Given the description of an element on the screen output the (x, y) to click on. 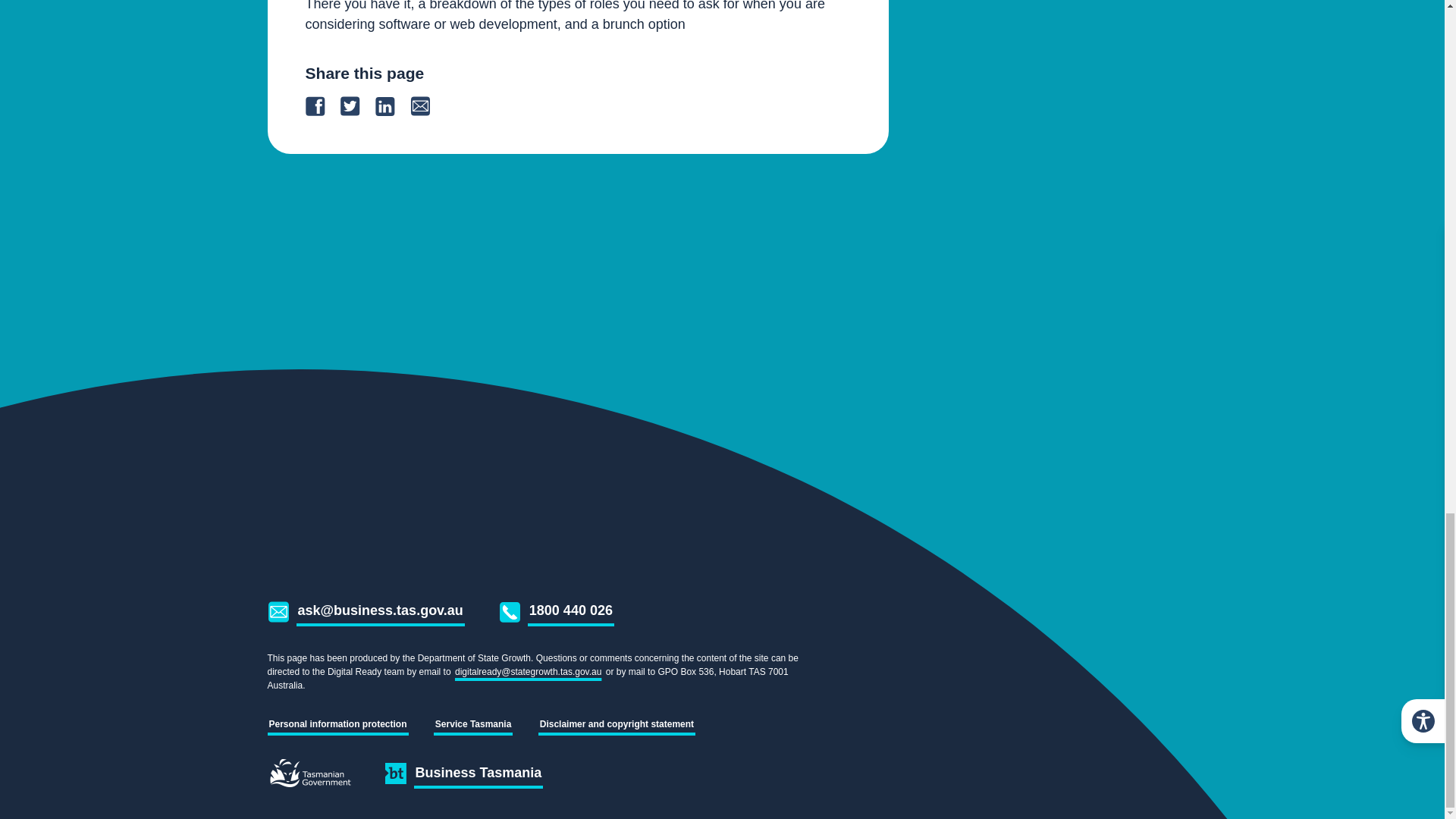
Share this on Facebook (321, 106)
Share this via email (426, 106)
Share this on Twitter (356, 106)
Share this on LinkedIn (391, 106)
